Given the description of an element on the screen output the (x, y) to click on. 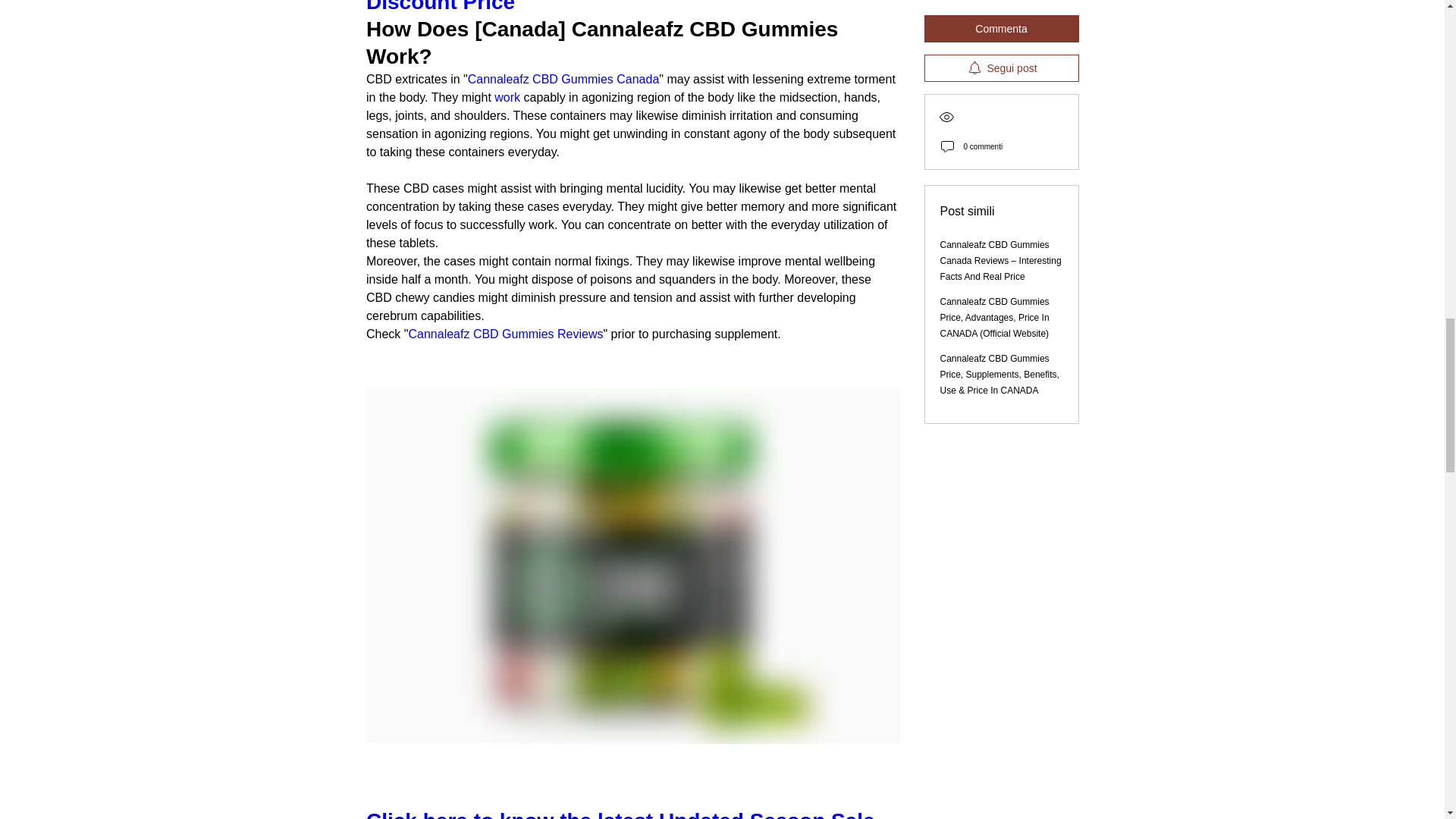
work  (508, 97)
Cannaleafz CBD Gummies Canada (563, 78)
Cannaleafz CBD Gummies Reviews (504, 333)
